Given the description of an element on the screen output the (x, y) to click on. 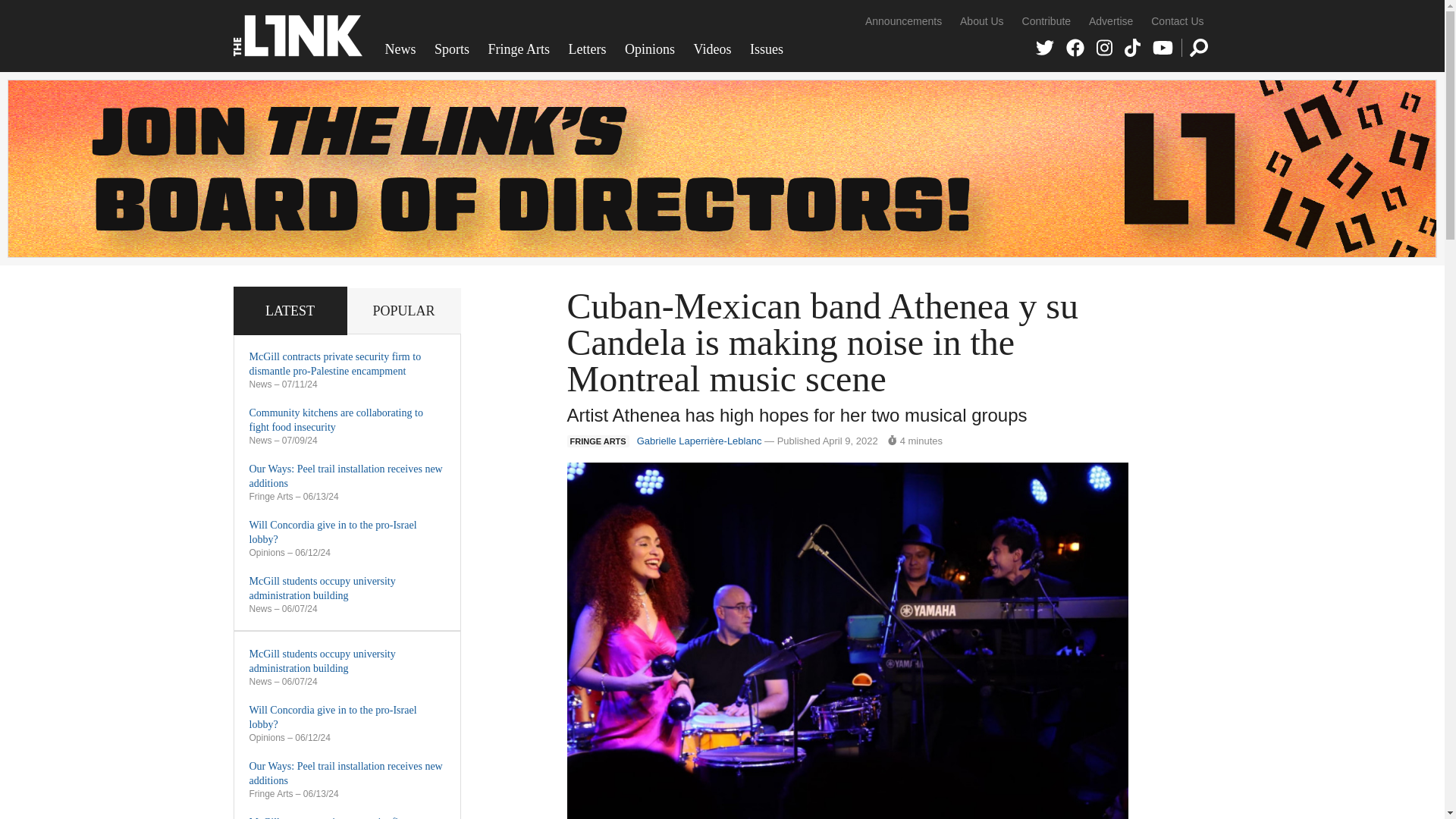
Instagram (1104, 47)
TikTok (1132, 47)
Facebook (1074, 47)
Search Form (1198, 47)
TikTok (1132, 47)
YouTube (1163, 47)
News (400, 49)
Facebook (1074, 47)
Sports (451, 49)
Fringe Arts (518, 49)
Opinions (649, 49)
Instagram (1104, 47)
Search Form (1198, 47)
YouTube (1163, 47)
Twitter (1044, 47)
